Given the description of an element on the screen output the (x, y) to click on. 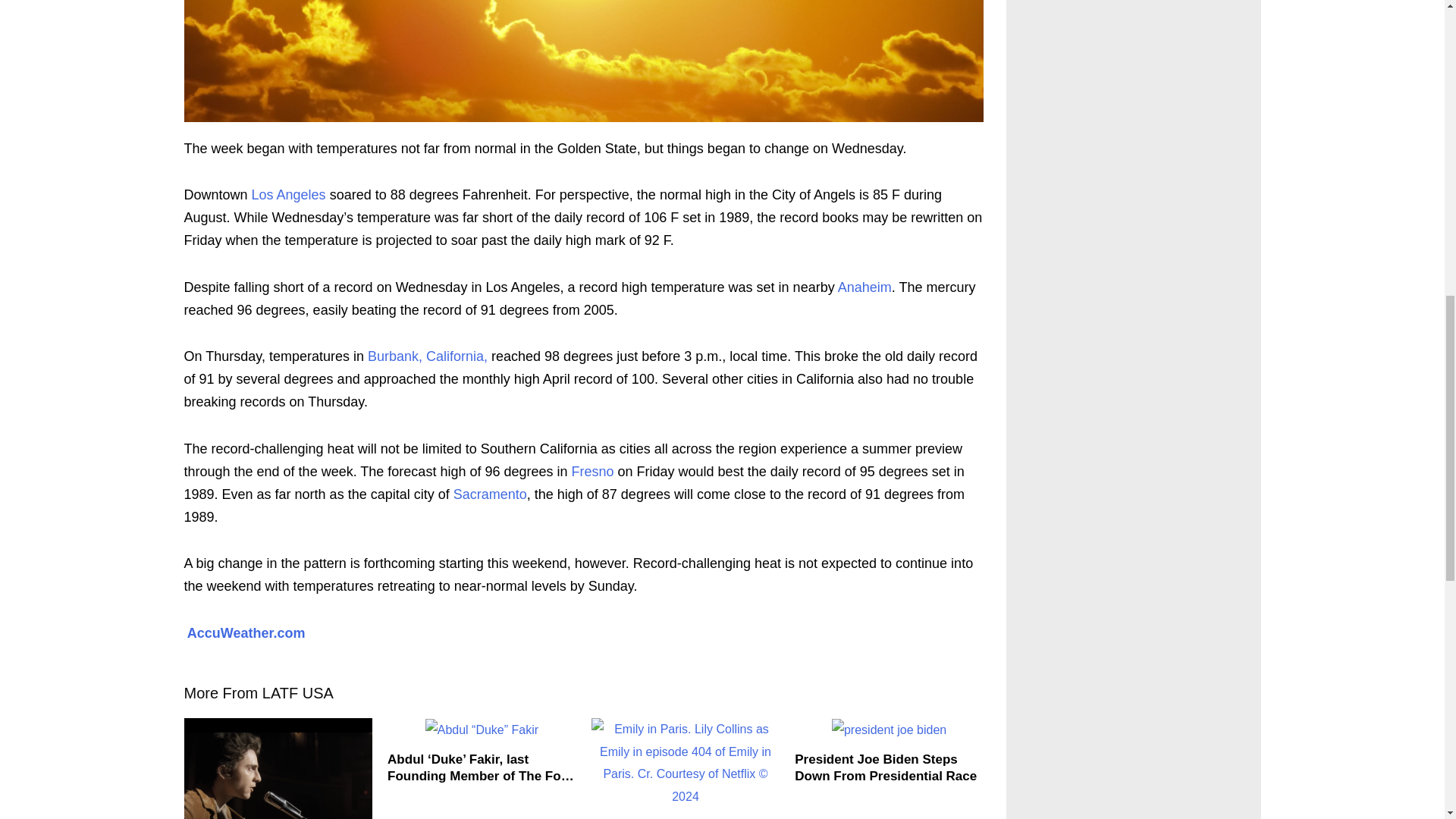
timothee chalamet, bob dylan (277, 768)
president joe biden (888, 730)
